Given the description of an element on the screen output the (x, y) to click on. 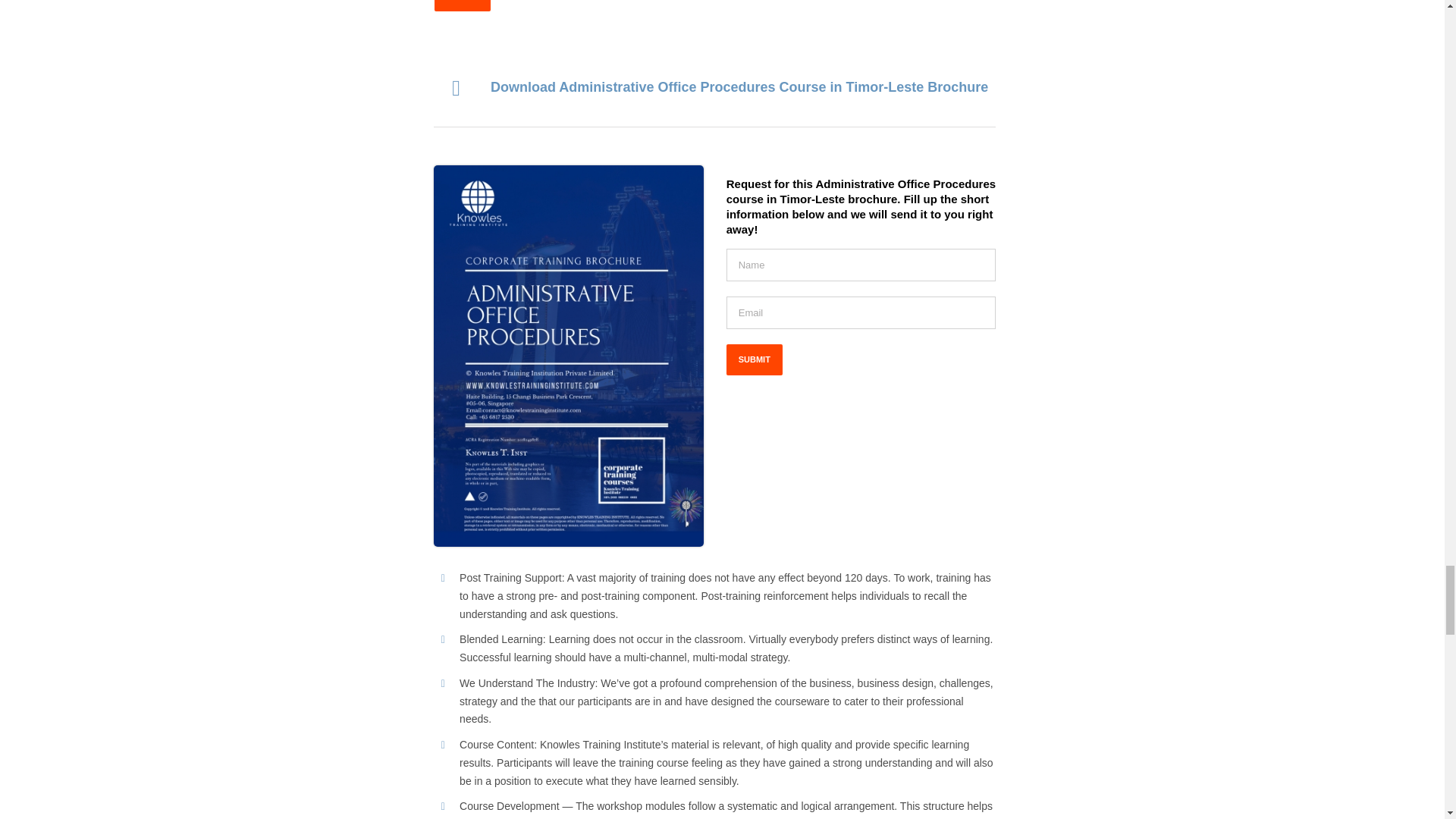
submit (754, 359)
submit (754, 359)
submit (461, 5)
submit (461, 5)
